Given the description of an element on the screen output the (x, y) to click on. 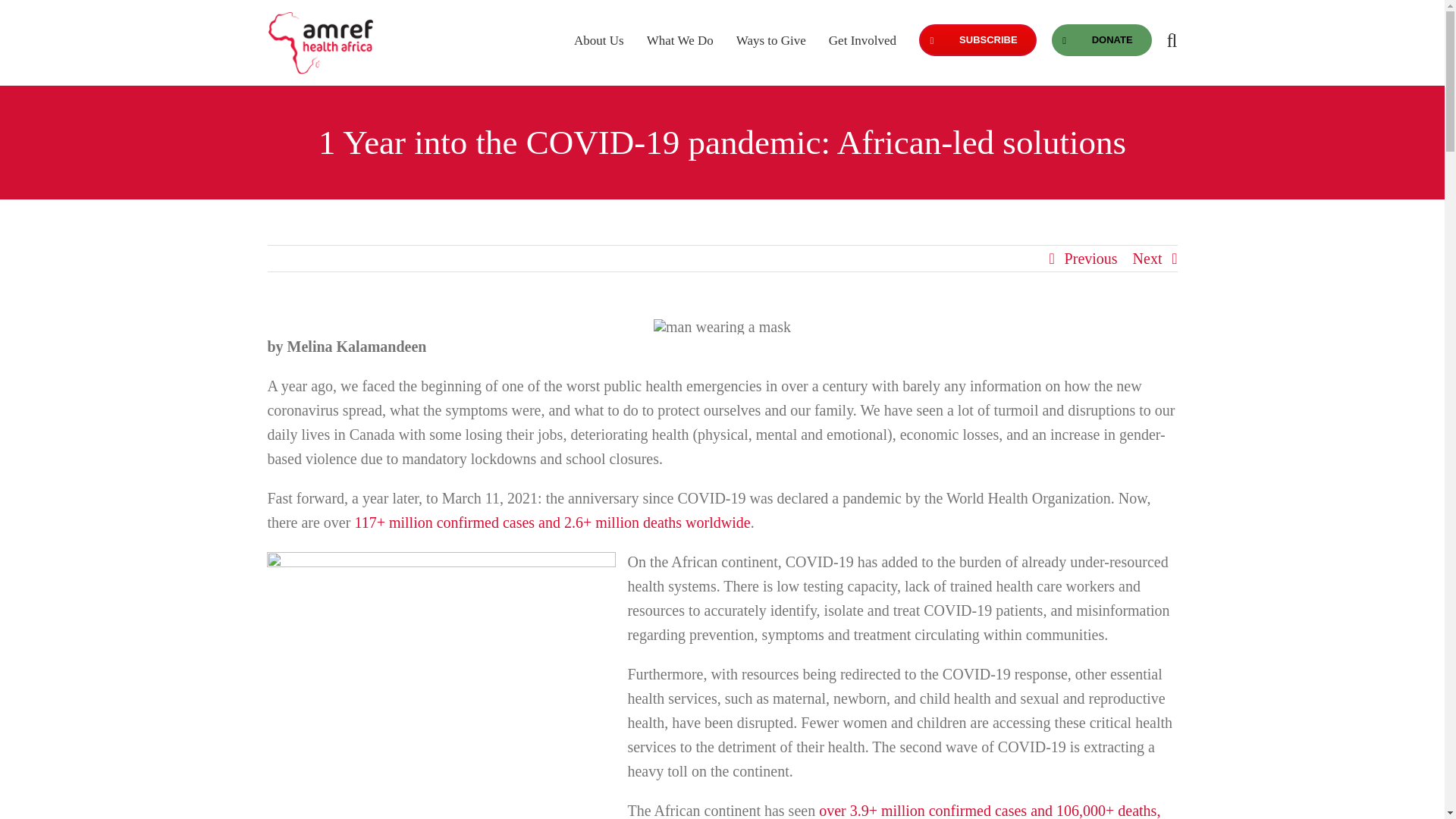
SUBSCRIBE (977, 38)
DONATE (1101, 38)
Previous (1091, 258)
Ways to Give (771, 38)
Get Involved (862, 38)
What We Do (679, 38)
About Us (598, 38)
